Given the description of an element on the screen output the (x, y) to click on. 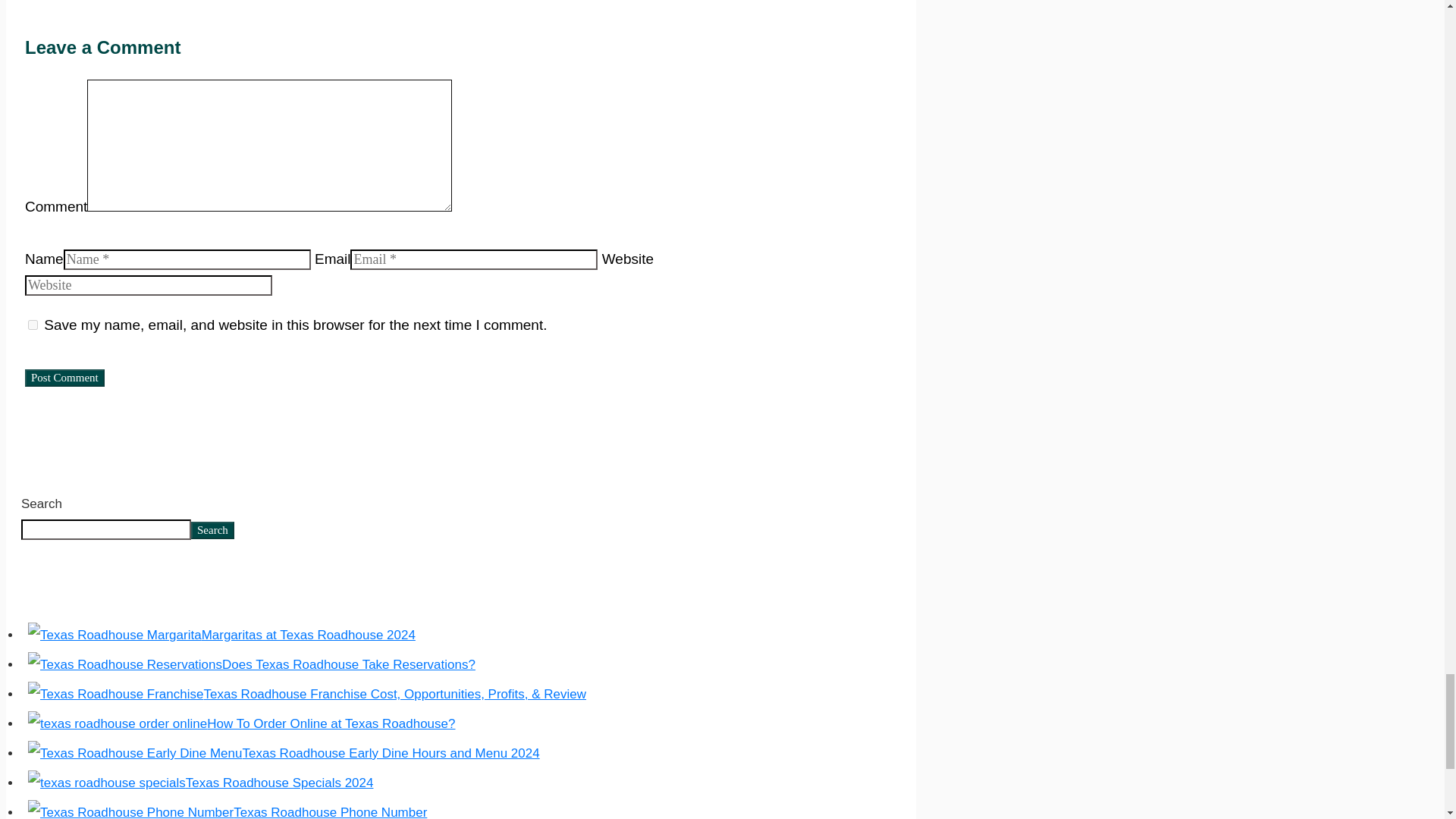
Post Comment (64, 377)
yes (32, 325)
